Given the description of an element on the screen output the (x, y) to click on. 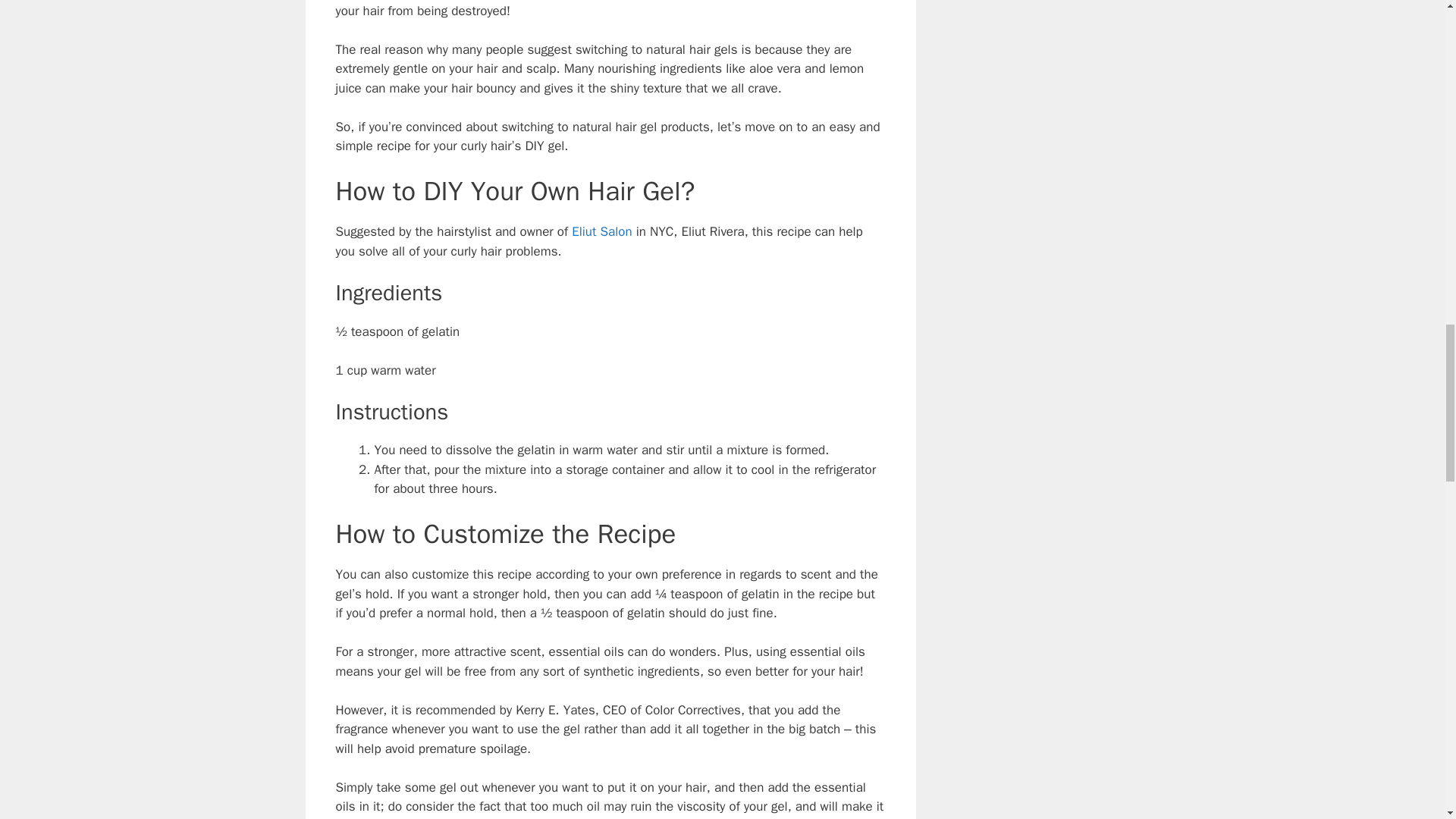
Eliut Salon (601, 231)
